Given the description of an element on the screen output the (x, y) to click on. 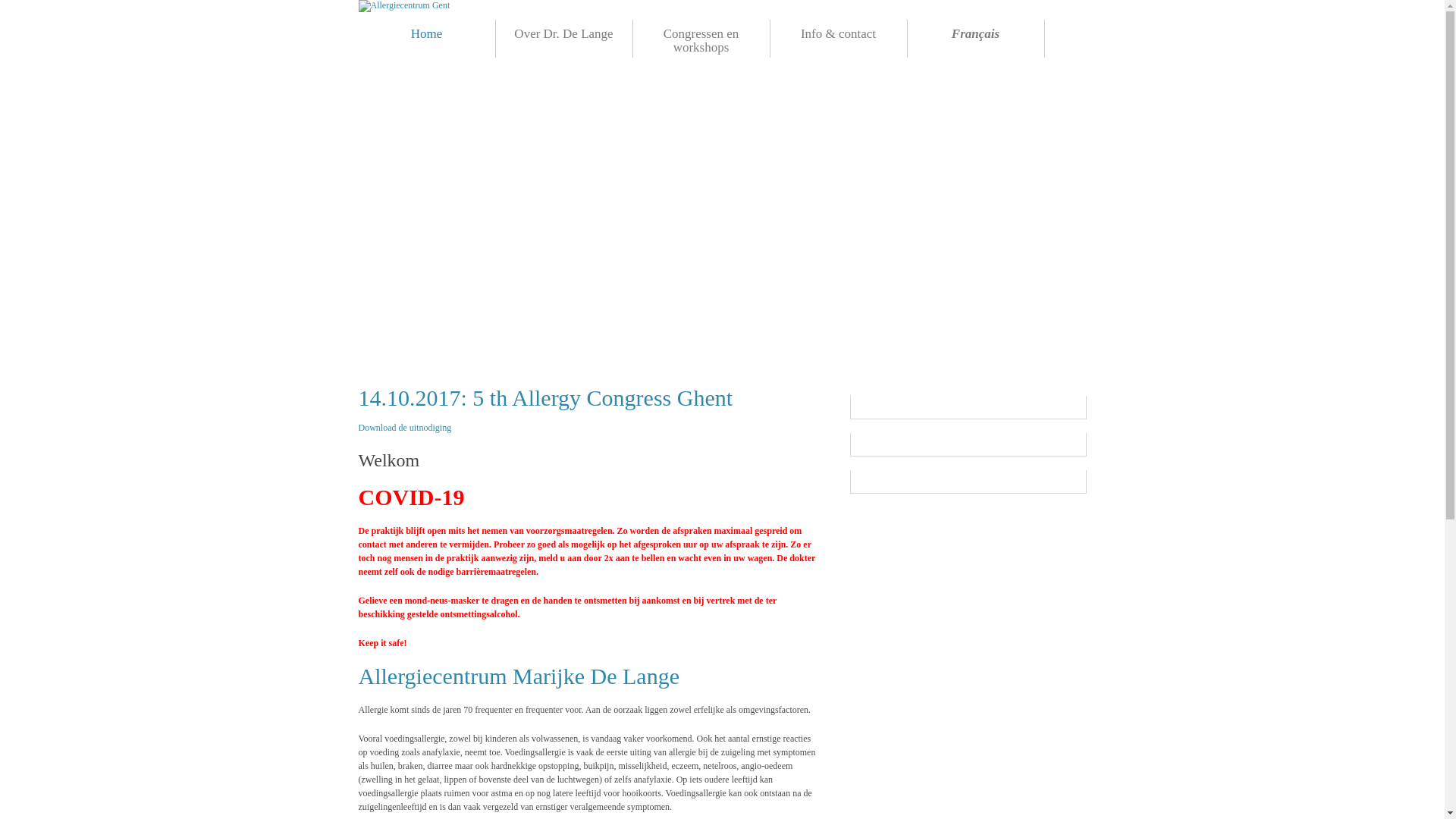
Congressen en workshops Element type: text (700, 38)
Allergiecentrum Gent Element type: hover (403, 6)
Info & contact Element type: text (838, 38)
Over Dr. De Lange Element type: text (563, 38)
Home Element type: text (425, 38)
Download de uitnodiging Element type: text (404, 427)
